Given the description of an element on the screen output the (x, y) to click on. 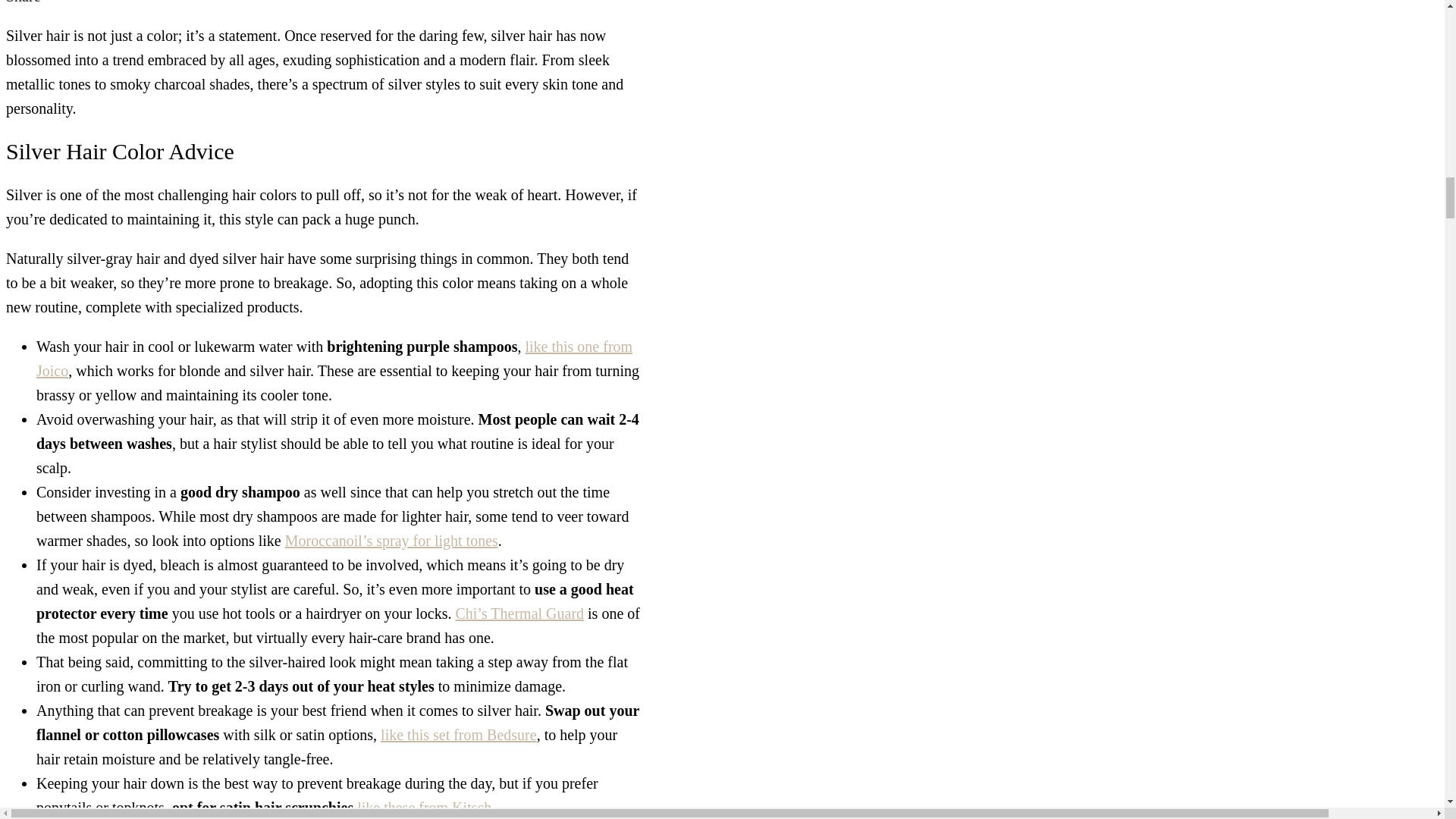
like these from Kitsch (424, 807)
like this one from Joico (333, 358)
like this set from Bedsure (458, 734)
